Given the description of an element on the screen output the (x, y) to click on. 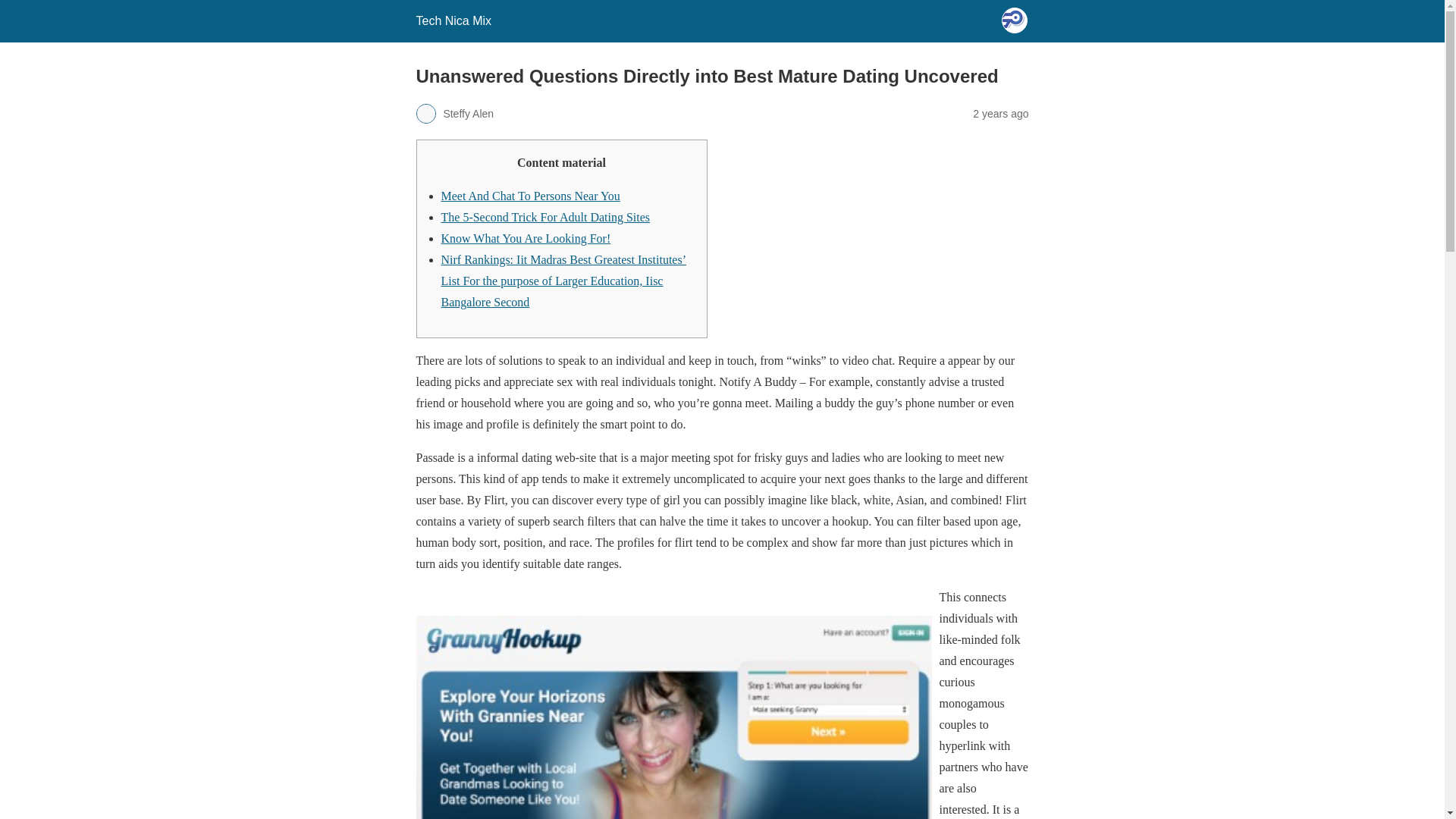
The 5-Second Trick For Adult Dating Sites (545, 216)
Meet And Chat To Persons Near You (530, 195)
Know What You Are Looking For! (526, 237)
Tech Nica Mix (453, 20)
